Given the description of an element on the screen output the (x, y) to click on. 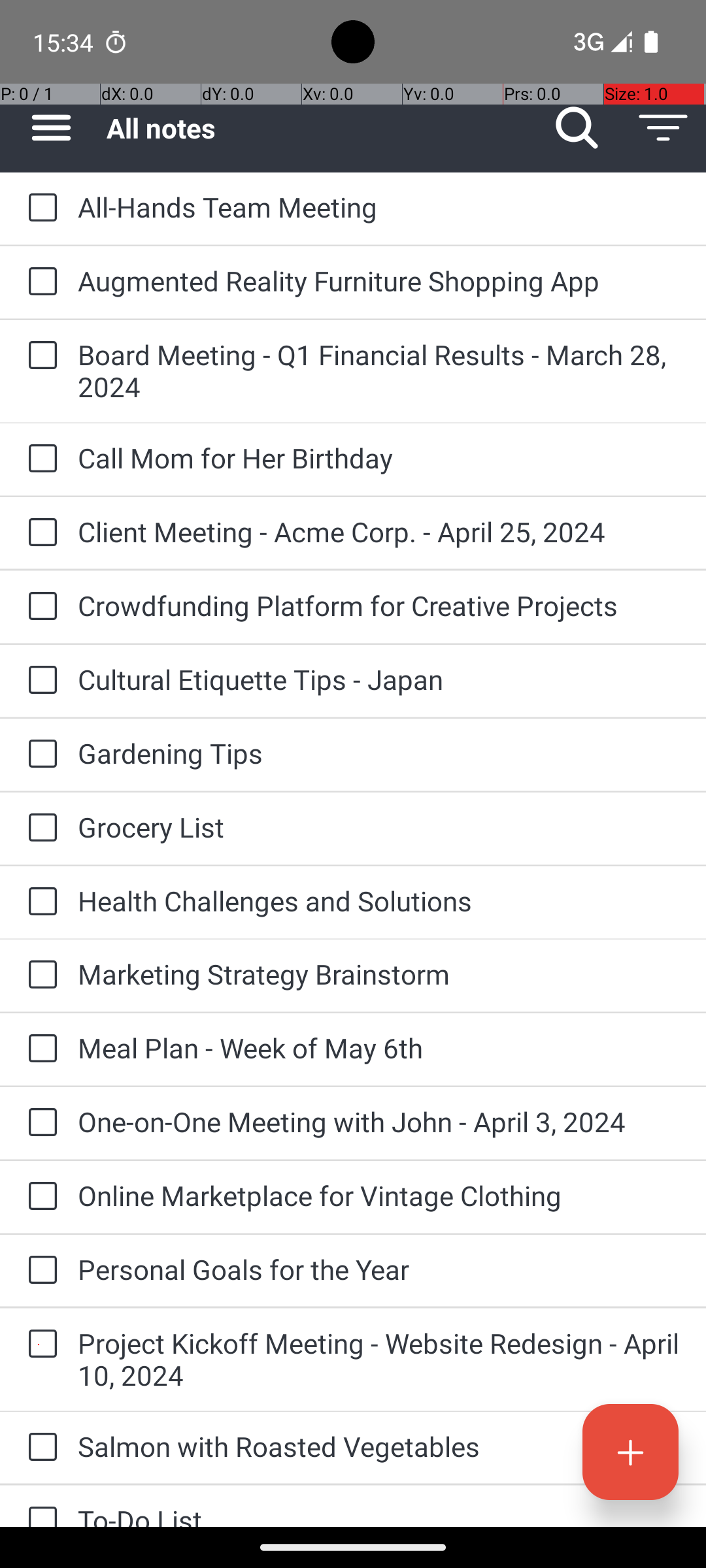
to-do: Augmented Reality Furniture Shopping App Element type: android.widget.CheckBox (38, 282)
to-do: Board Meeting - Q1 Financial Results - March 28, 2024 Element type: android.widget.CheckBox (38, 356)
to-do: Call Mom for Her Birthday Element type: android.widget.CheckBox (38, 459)
Call Mom for Her Birthday Element type: android.widget.TextView (378, 457)
to-do: Crowdfunding Platform for Creative Projects Element type: android.widget.CheckBox (38, 606)
Crowdfunding Platform for Creative Projects Element type: android.widget.TextView (378, 604)
to-do: Cultural Etiquette Tips - Japan Element type: android.widget.CheckBox (38, 680)
Cultural Etiquette Tips - Japan Element type: android.widget.TextView (378, 678)
to-do: Gardening Tips Element type: android.widget.CheckBox (38, 754)
Gardening Tips Element type: android.widget.TextView (378, 752)
to-do: Health Challenges and Solutions Element type: android.widget.CheckBox (38, 902)
to-do: Marketing Strategy Brainstorm Element type: android.widget.CheckBox (38, 975)
Marketing Strategy Brainstorm Element type: android.widget.TextView (378, 973)
to-do: Meal Plan - Week of May 6th Element type: android.widget.CheckBox (38, 1049)
Meal Plan - Week of May 6th Element type: android.widget.TextView (378, 1047)
to-do: One-on-One Meeting with John - April 3, 2024 Element type: android.widget.CheckBox (38, 1123)
One-on-One Meeting with John - April 3, 2024 Element type: android.widget.TextView (378, 1121)
to-do: Personal Goals for the Year Element type: android.widget.CheckBox (38, 1270)
Personal Goals for the Year Element type: android.widget.TextView (378, 1268)
to-do: Project Kickoff Meeting - Website Redesign - April 10, 2024 Element type: android.widget.CheckBox (38, 1344)
Project Kickoff Meeting - Website Redesign - April 10, 2024 Element type: android.widget.TextView (378, 1358)
to-do: Salmon with Roasted Vegetables Element type: android.widget.CheckBox (38, 1447)
Salmon with Roasted Vegetables Element type: android.widget.TextView (378, 1445)
to-do: To-Do List Element type: android.widget.CheckBox (38, 1505)
To-Do List Element type: android.widget.TextView (378, 1513)
